Given the description of an element on the screen output the (x, y) to click on. 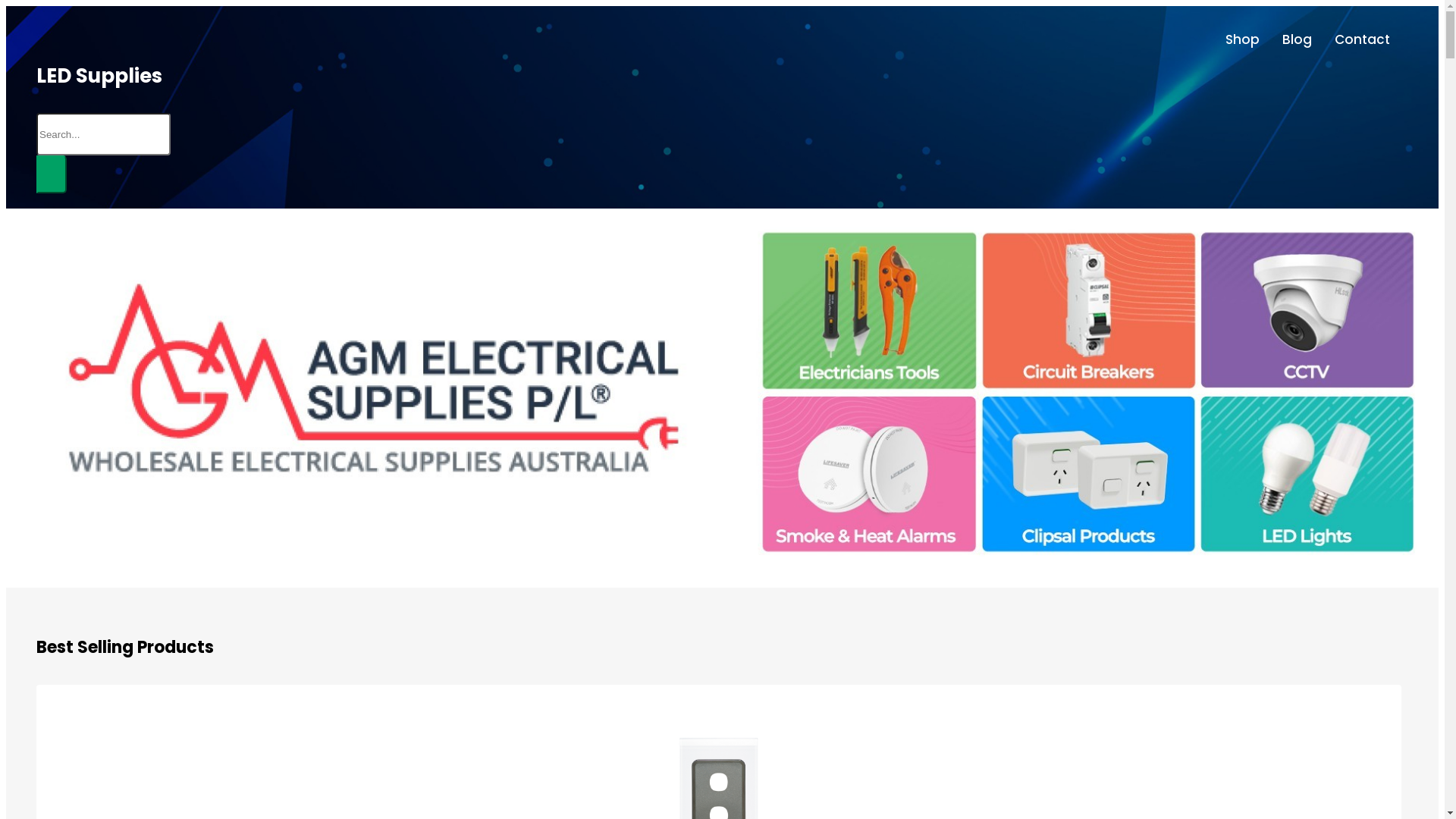
LED Supplies Element type: text (99, 75)
Shop Element type: text (1242, 40)
Blog Element type: text (1296, 40)
Contact Element type: text (1362, 40)
